Given the description of an element on the screen output the (x, y) to click on. 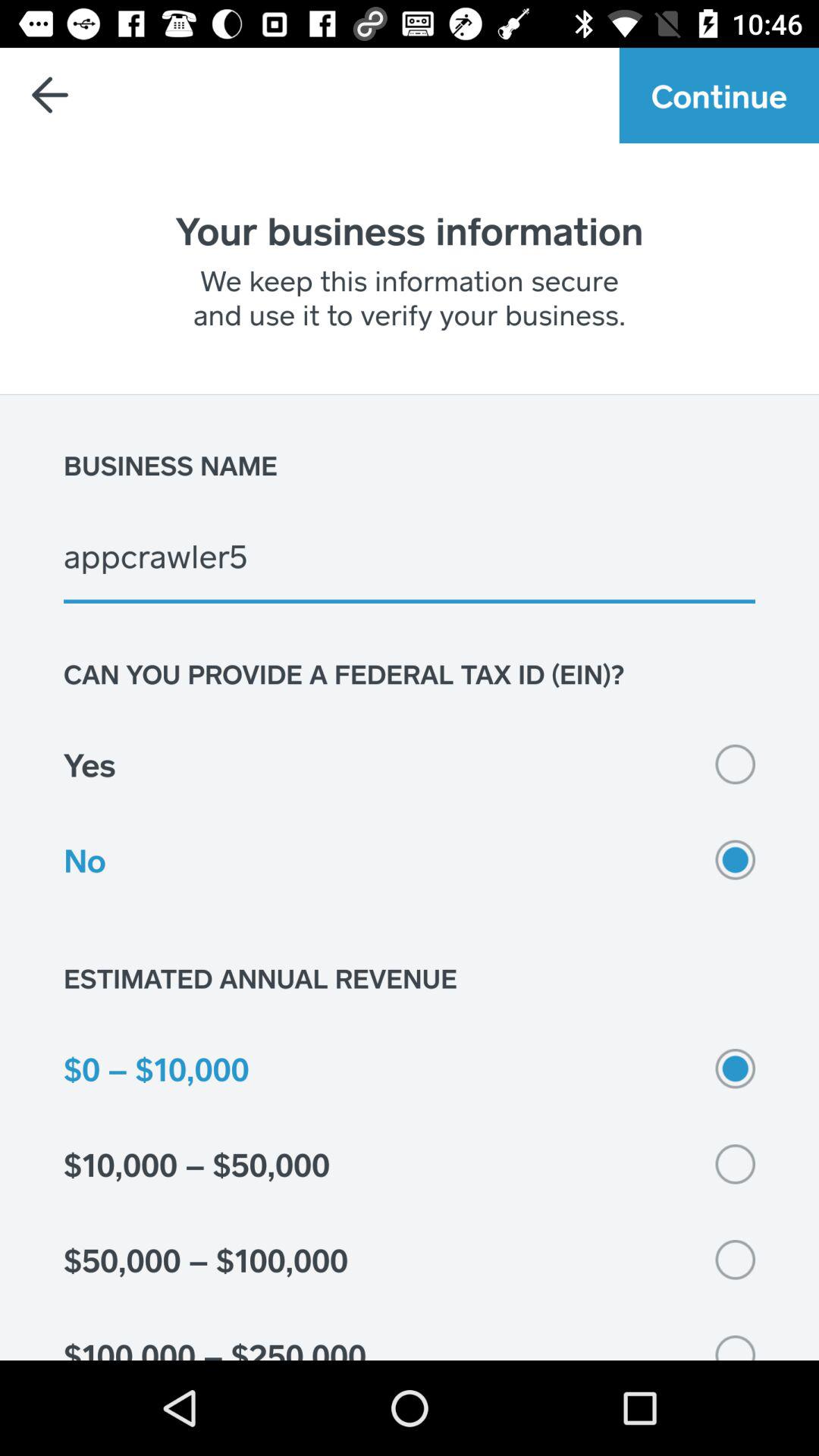
scroll until the yes item (409, 764)
